Given the description of an element on the screen output the (x, y) to click on. 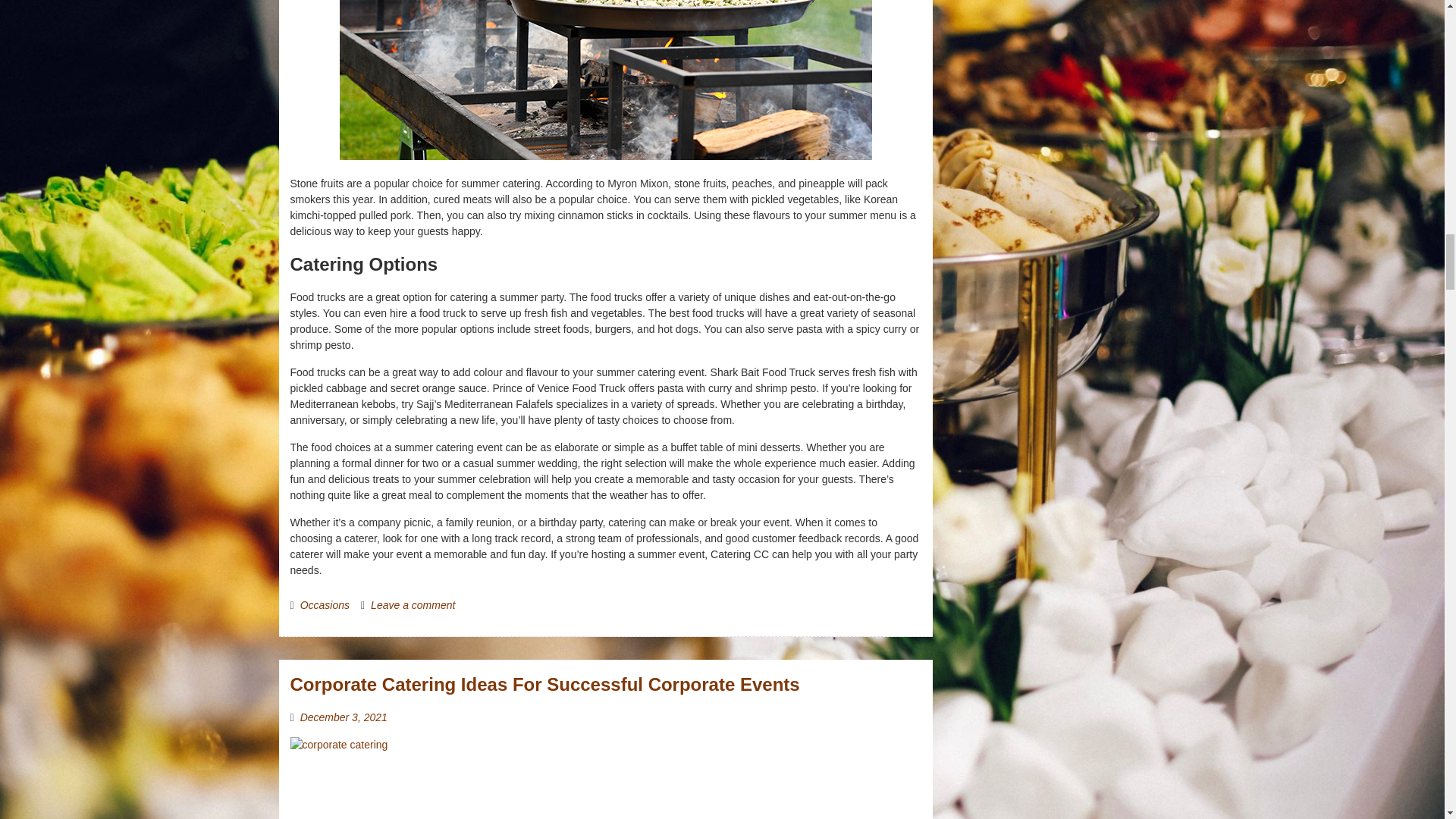
Occasions (324, 604)
Corporate Catering Ideas For Successful Corporate Events (544, 684)
Leave a comment (412, 604)
December 3, 2021 (343, 717)
